Given the description of an element on the screen output the (x, y) to click on. 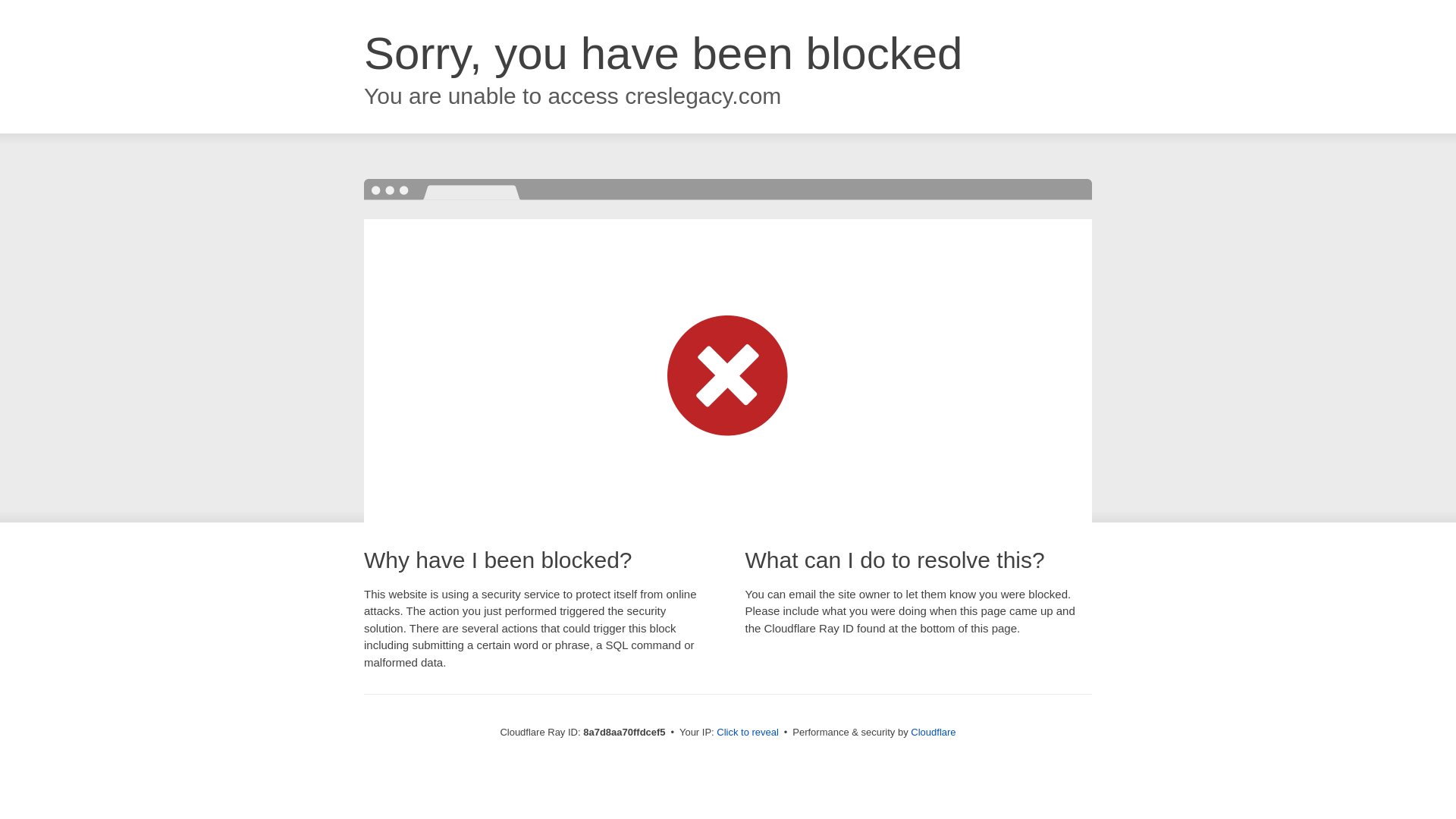
Click to reveal (747, 732)
Cloudflare (933, 731)
